Given the description of an element on the screen output the (x, y) to click on. 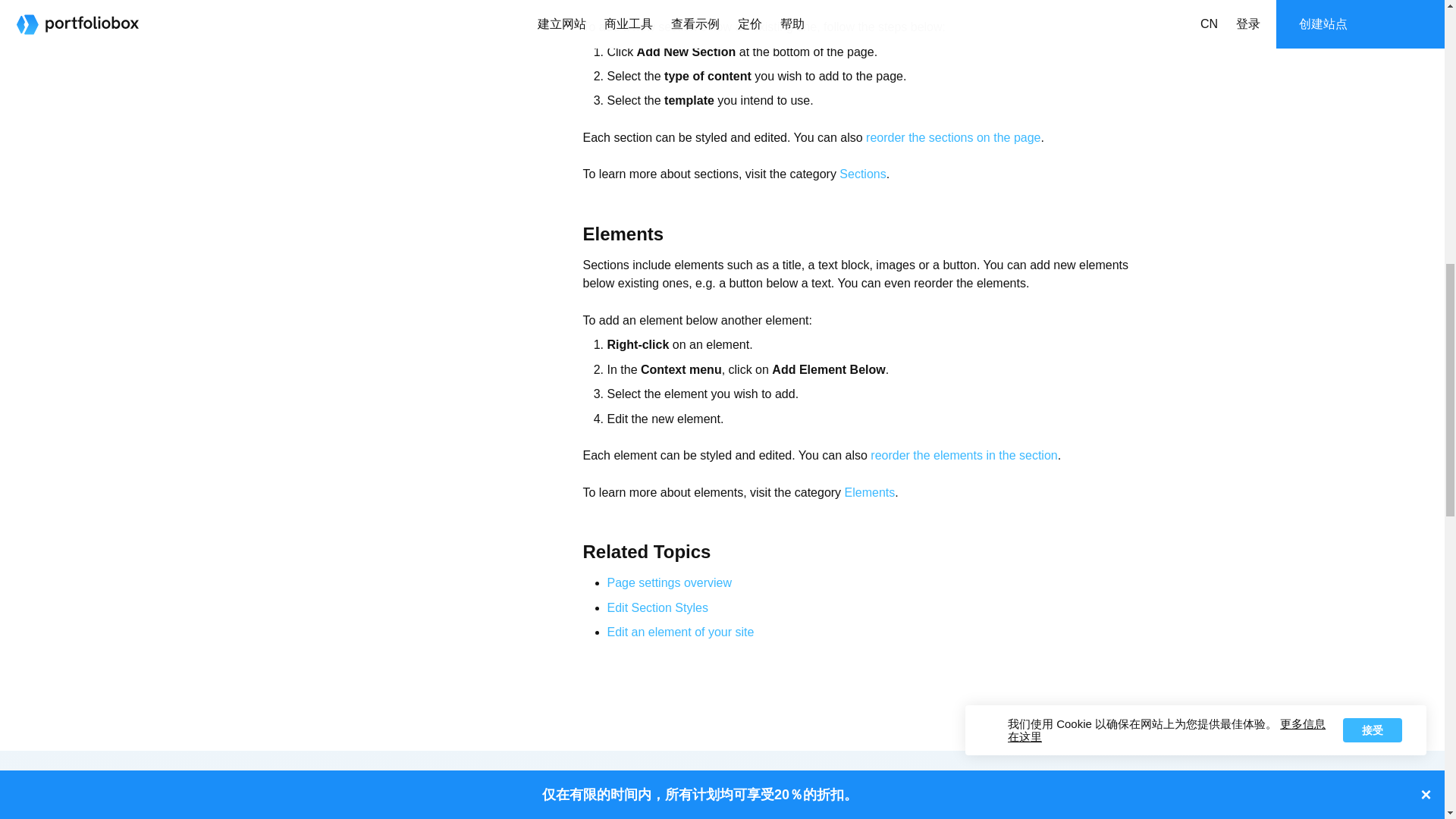
Elements (869, 492)
Reorder elements (963, 454)
Sections (862, 173)
Reorder sections (953, 137)
